Given the description of an element on the screen output the (x, y) to click on. 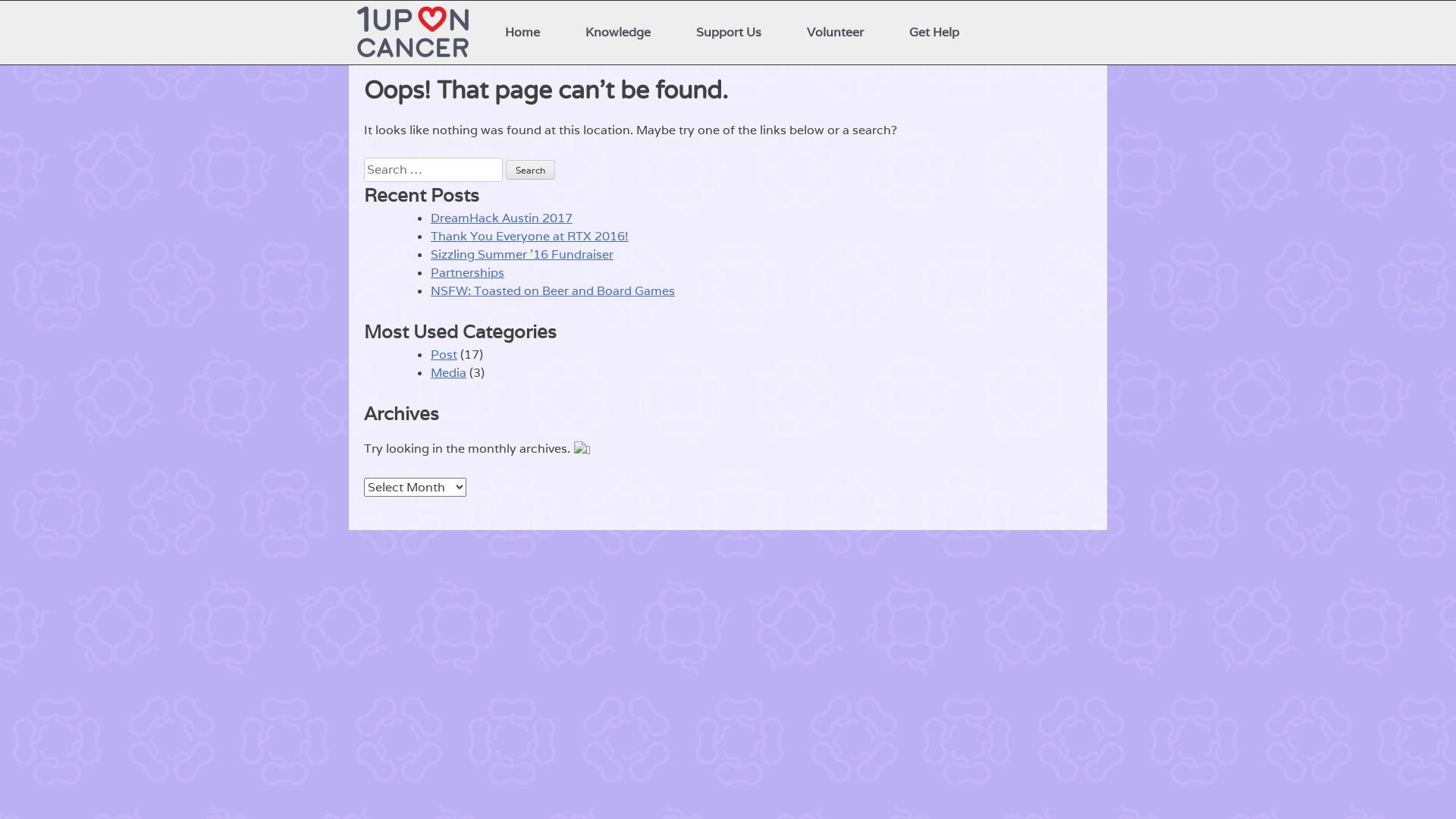
Volunteer Element type: text (835, 32)
Post Element type: text (443, 354)
Media Element type: text (448, 372)
Partnerships Element type: text (467, 272)
Thank You Everyone at RTX 2016! Element type: text (529, 236)
Search Element type: text (530, 169)
Knowledge Element type: text (617, 32)
NSFW: Toasted on Beer and Board Games Element type: text (552, 290)
DreamHack Austin 2017 Element type: text (501, 217)
Support Us Element type: text (728, 32)
Get Help Element type: text (934, 32)
Home Element type: text (522, 32)
